Given the description of an element on the screen output the (x, y) to click on. 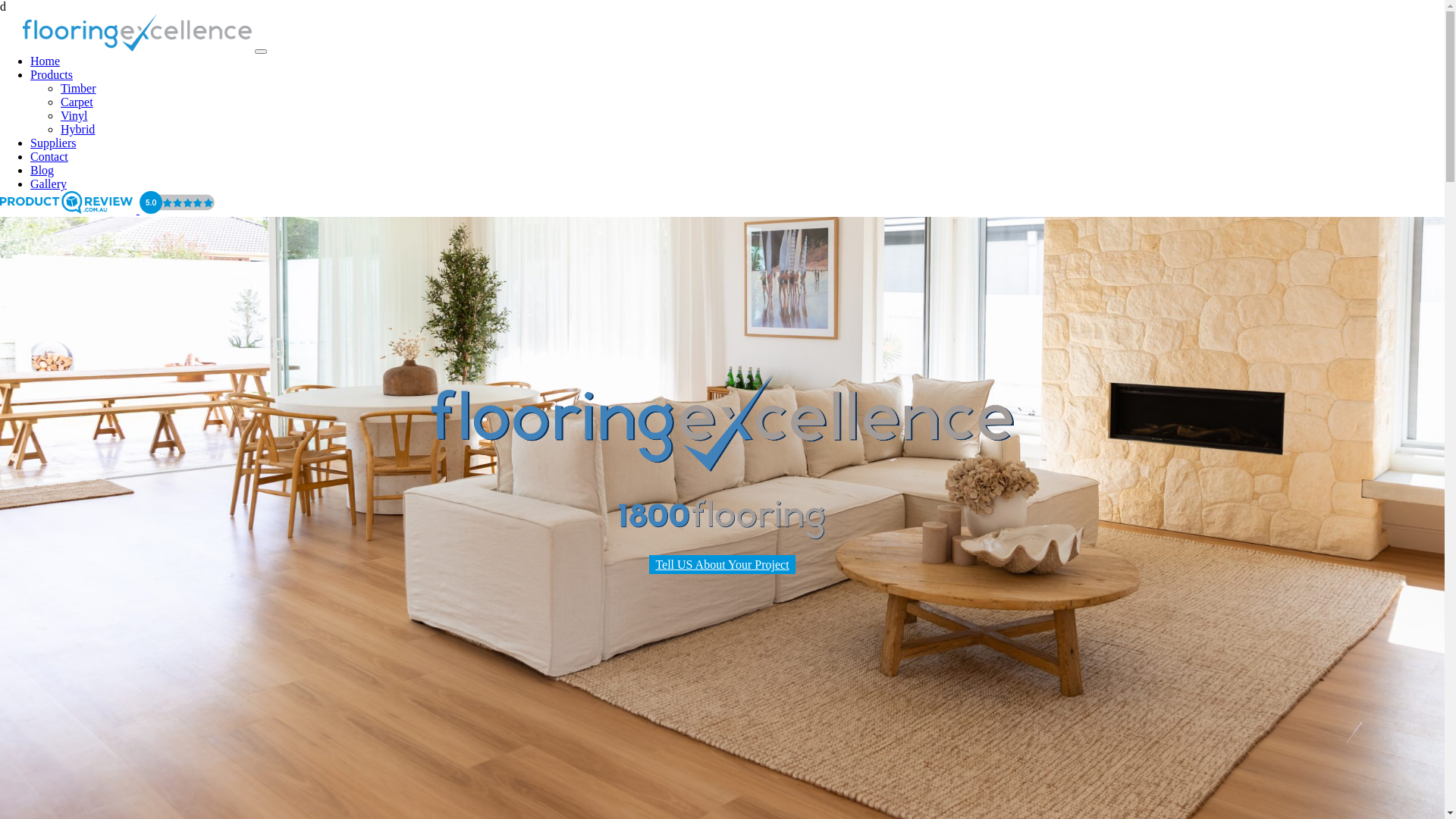
Tell US About Your Project Element type: text (721, 564)
Suppliers Element type: text (52, 142)
Contact Element type: text (49, 156)
Carpet Element type: text (76, 101)
Home Element type: text (44, 60)
Blog Element type: text (41, 169)
Vinyl Element type: text (73, 115)
Gallery Element type: text (48, 183)
Products Element type: text (51, 74)
Hybrid Element type: text (77, 128)
Timber Element type: text (78, 87)
